Given the description of an element on the screen output the (x, y) to click on. 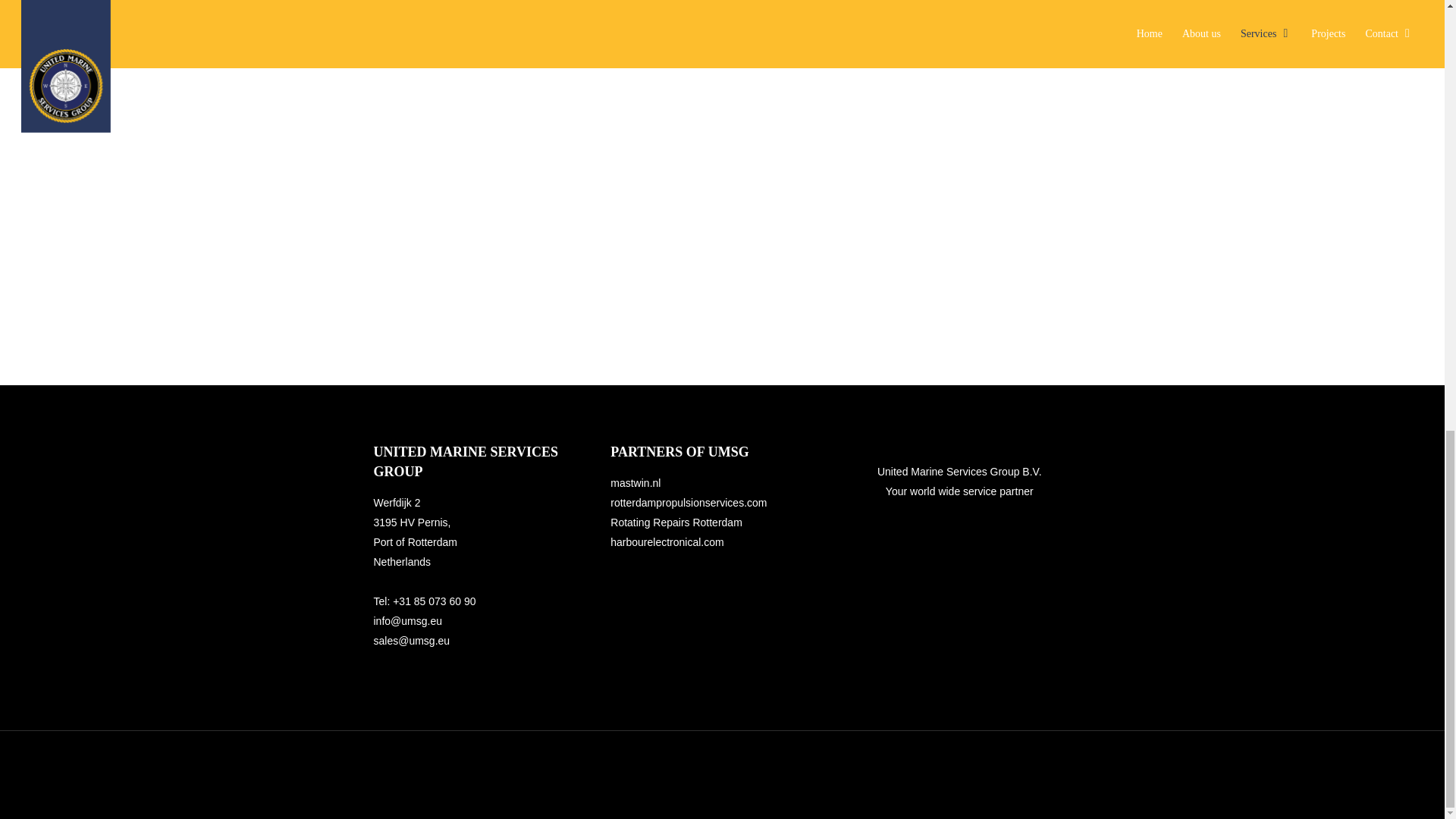
mastwin.nl  (636, 482)
harbourelectronical.com  (668, 541)
Rotating Repairs Rotterdam (676, 522)
rotterdampropulsionservices.com (688, 502)
